Given the description of an element on the screen output the (x, y) to click on. 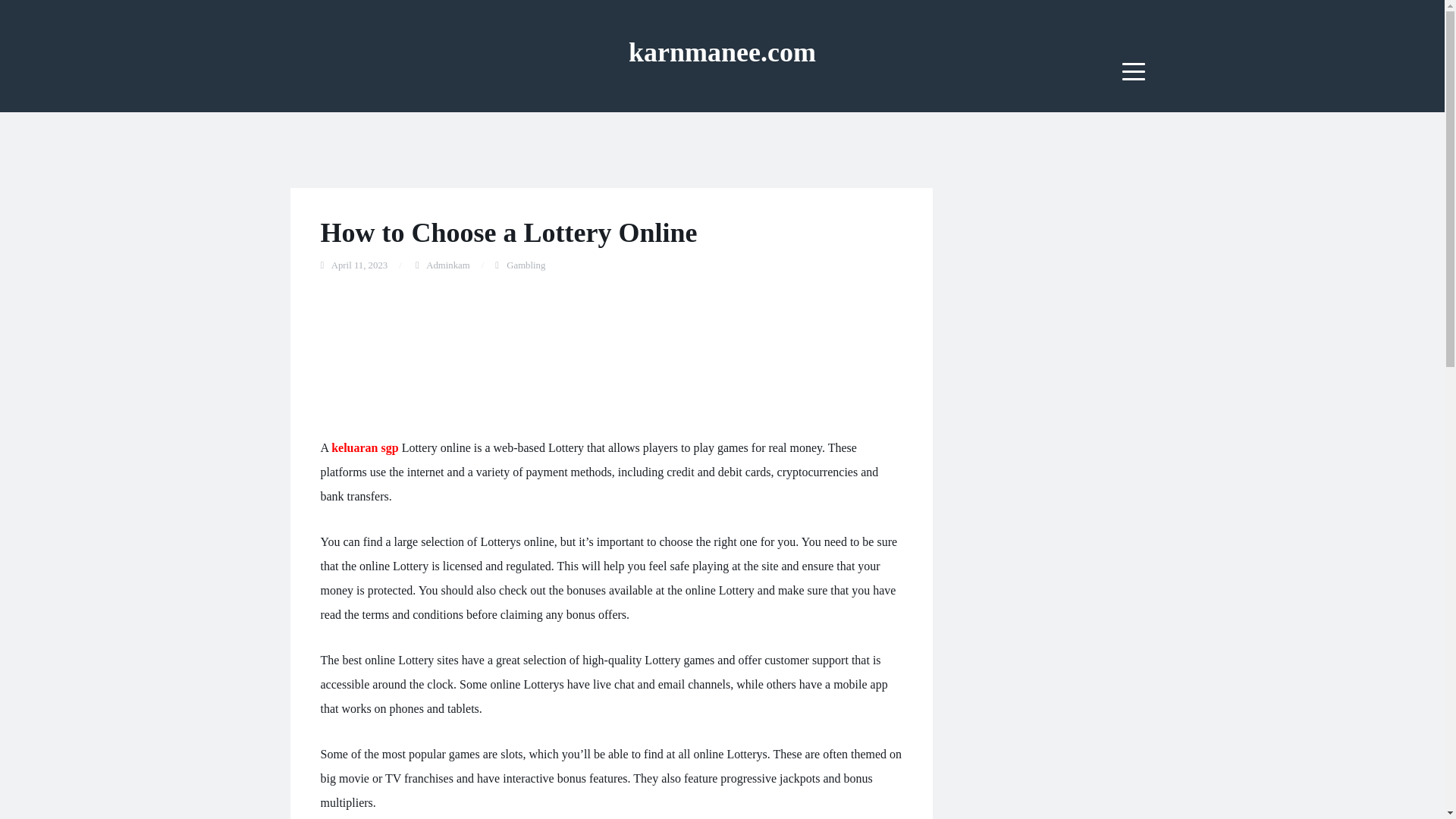
Menu (1133, 71)
keluaran sgp (364, 447)
Gambling (525, 265)
Adminkam (448, 265)
karnmanee.com (721, 51)
April 11, 2023 (359, 265)
